Given the description of an element on the screen output the (x, y) to click on. 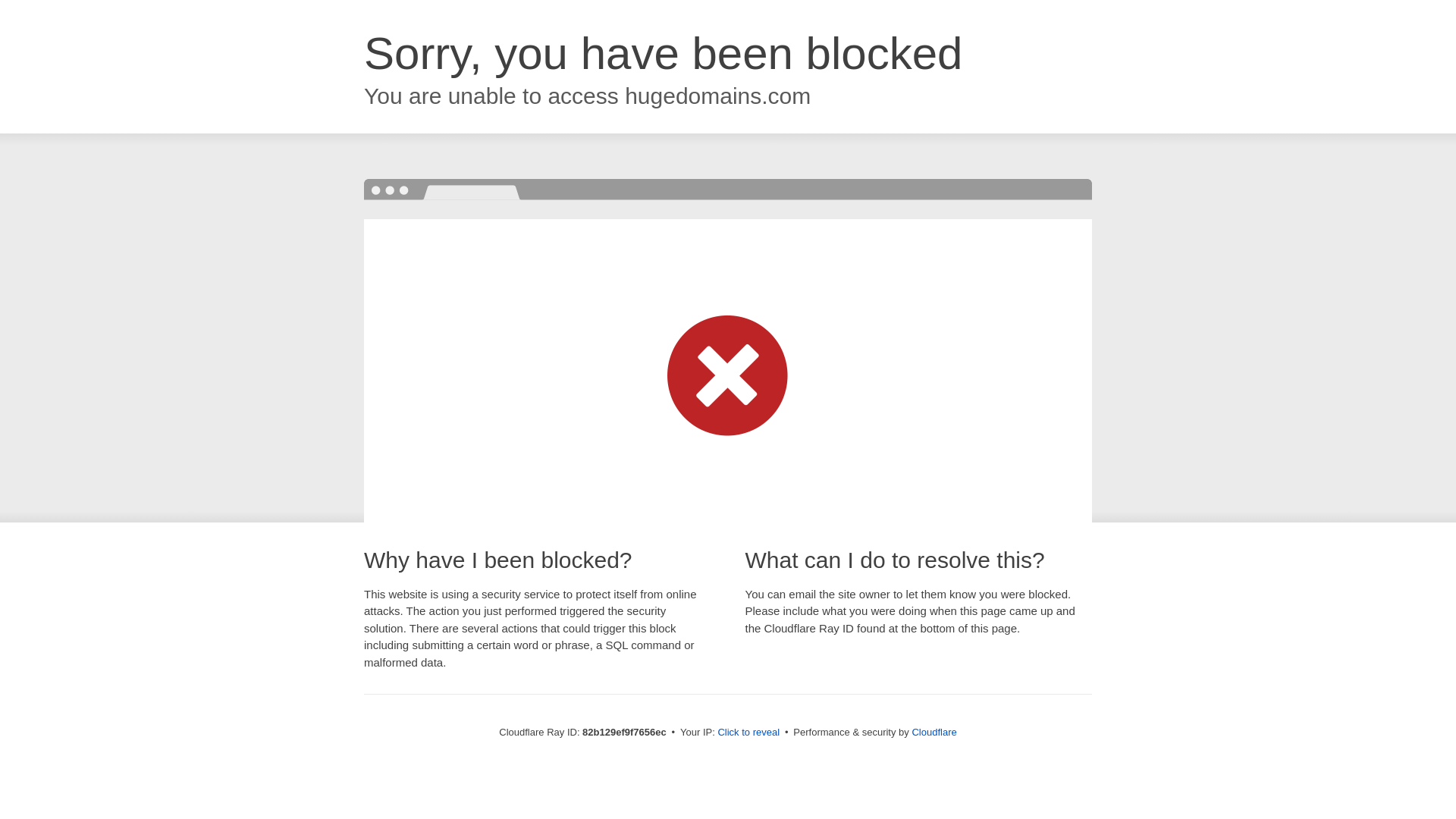
Cloudflare Element type: text (933, 731)
Click to reveal Element type: text (748, 732)
